Given the description of an element on the screen output the (x, y) to click on. 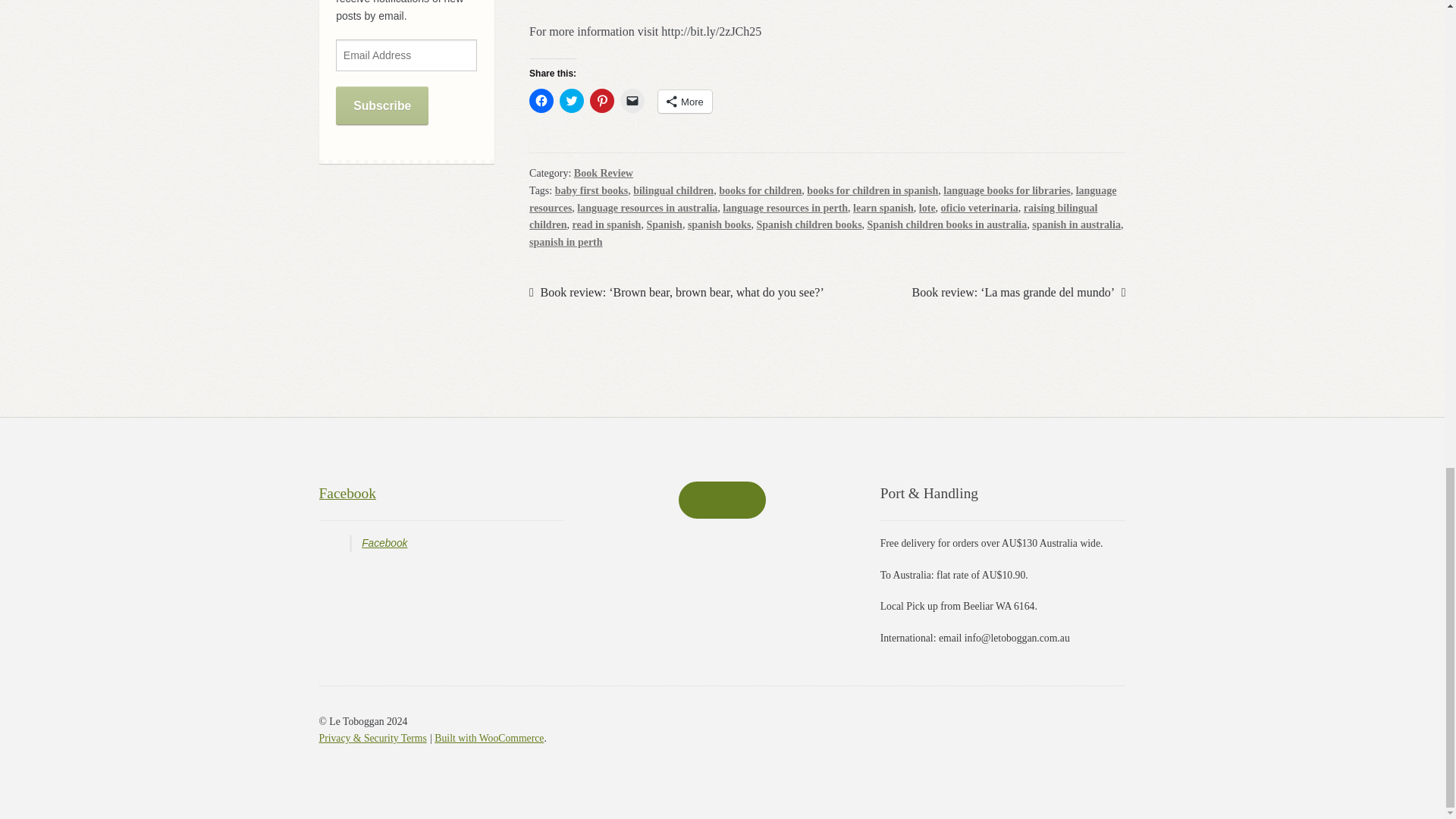
Click to email a link to a friend (632, 100)
Click to share on Pinterest (601, 100)
WooCommerce - The Best eCommerce Platform for WordPress (488, 737)
Click to share on Facebook (541, 100)
Click to share on Twitter (571, 100)
